Given the description of an element on the screen output the (x, y) to click on. 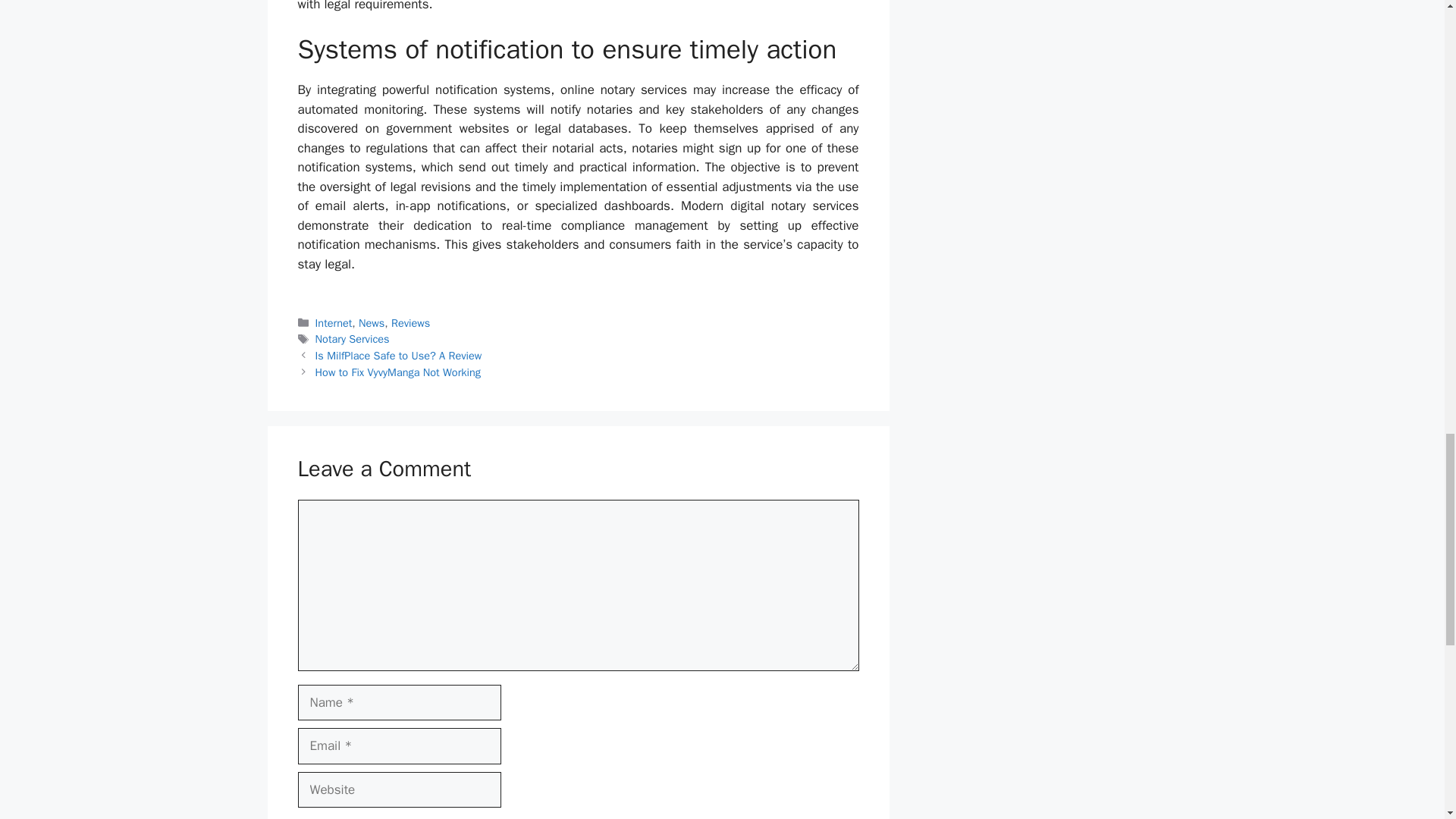
Internet (333, 323)
Reviews (410, 323)
How to Fix VyvyManga Not Working (397, 372)
Notary Services (352, 338)
News (371, 323)
Is MilfPlace Safe to Use? A Review (398, 355)
